Given the description of an element on the screen output the (x, y) to click on. 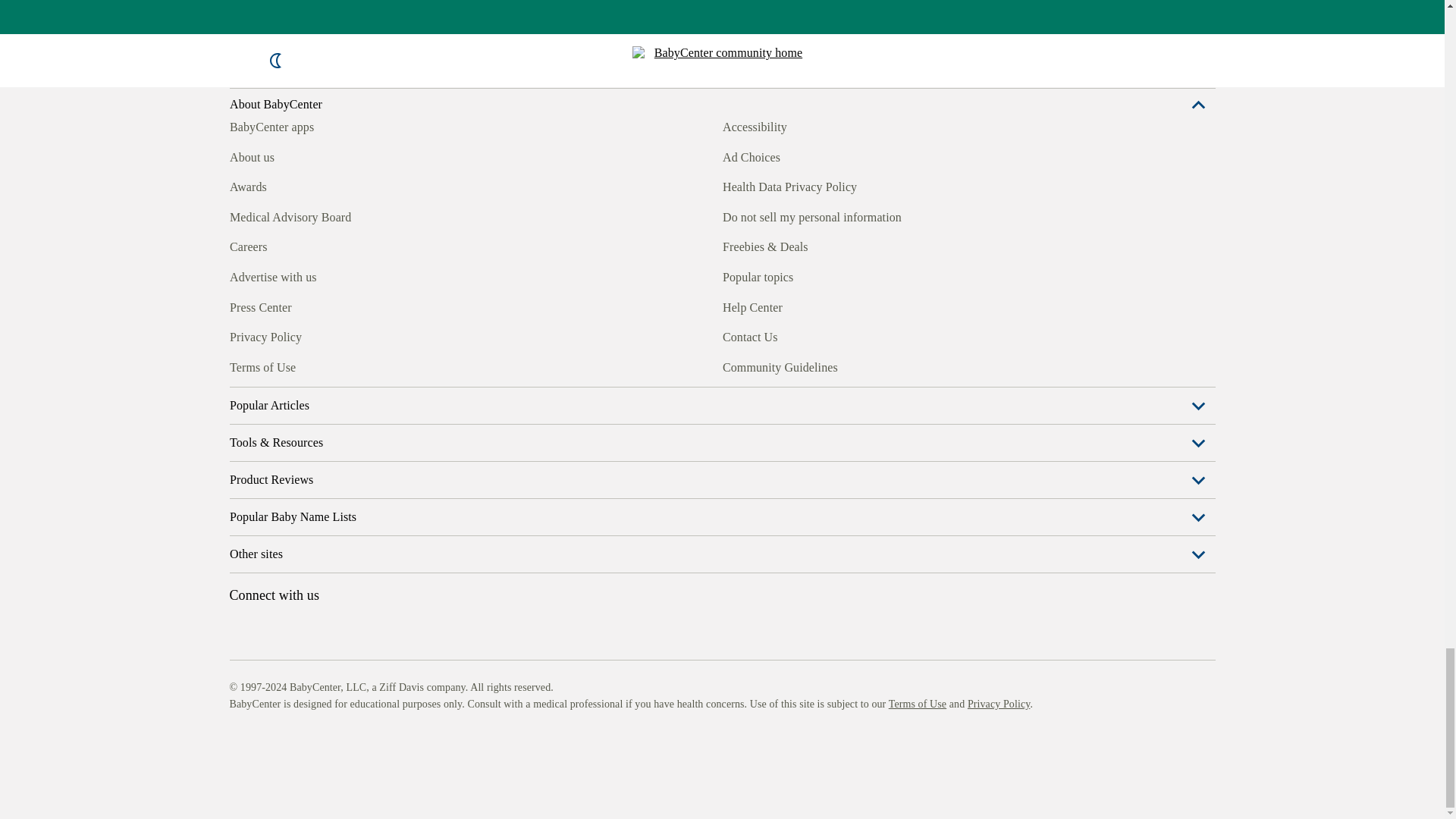
BabyCenter Instagram feed (274, 477)
BabyCenter Pinterest board (309, 477)
BabyCenter Twitter feed (379, 477)
BabyCenter YouTube channel (344, 477)
BabyCenter Facebook page (239, 477)
